Given the description of an element on the screen output the (x, y) to click on. 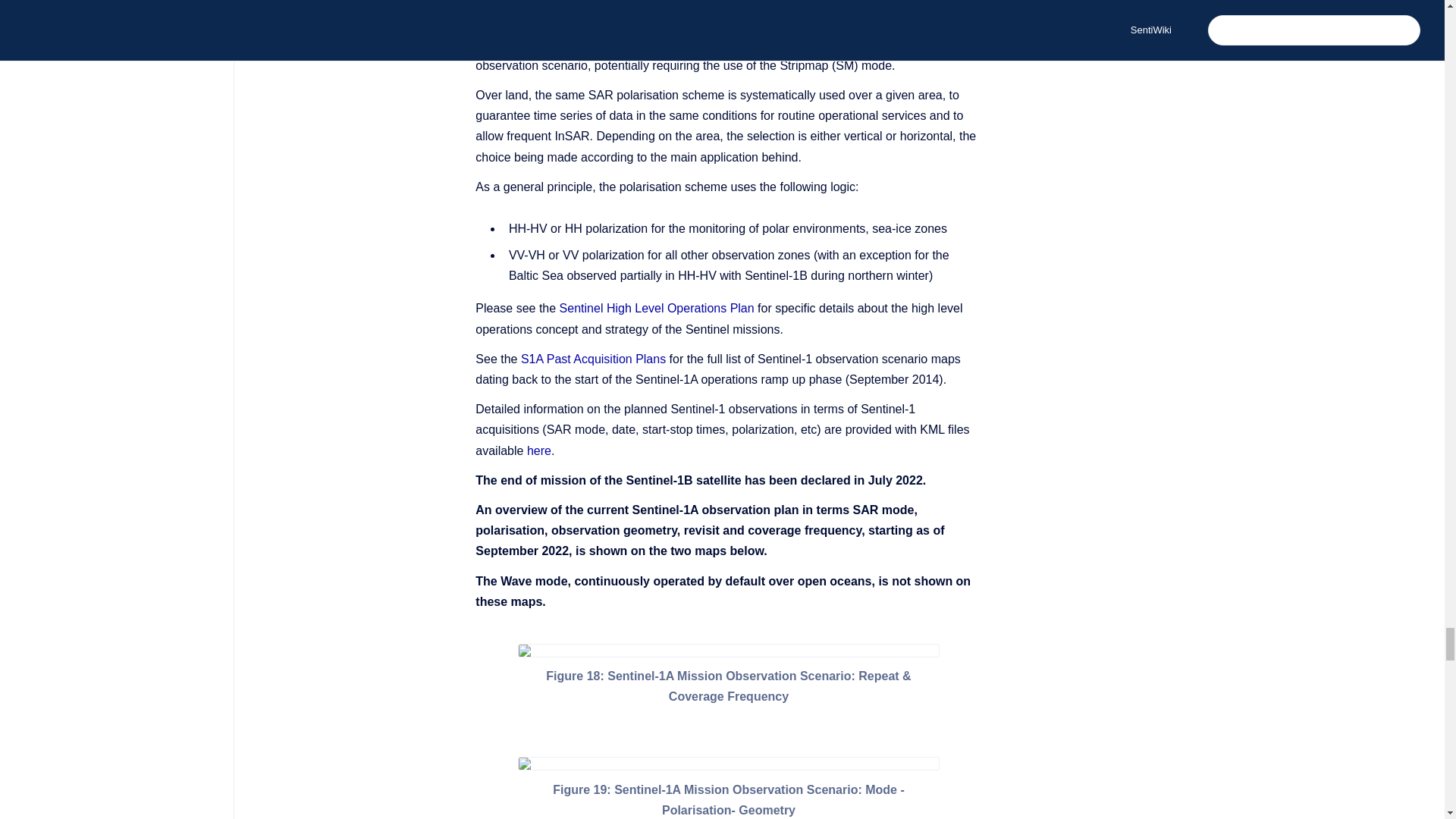
here (539, 450)
S1A Past Acquisition Plans (593, 358)
Sentinel High Level Operations Plan (656, 308)
